Given the description of an element on the screen output the (x, y) to click on. 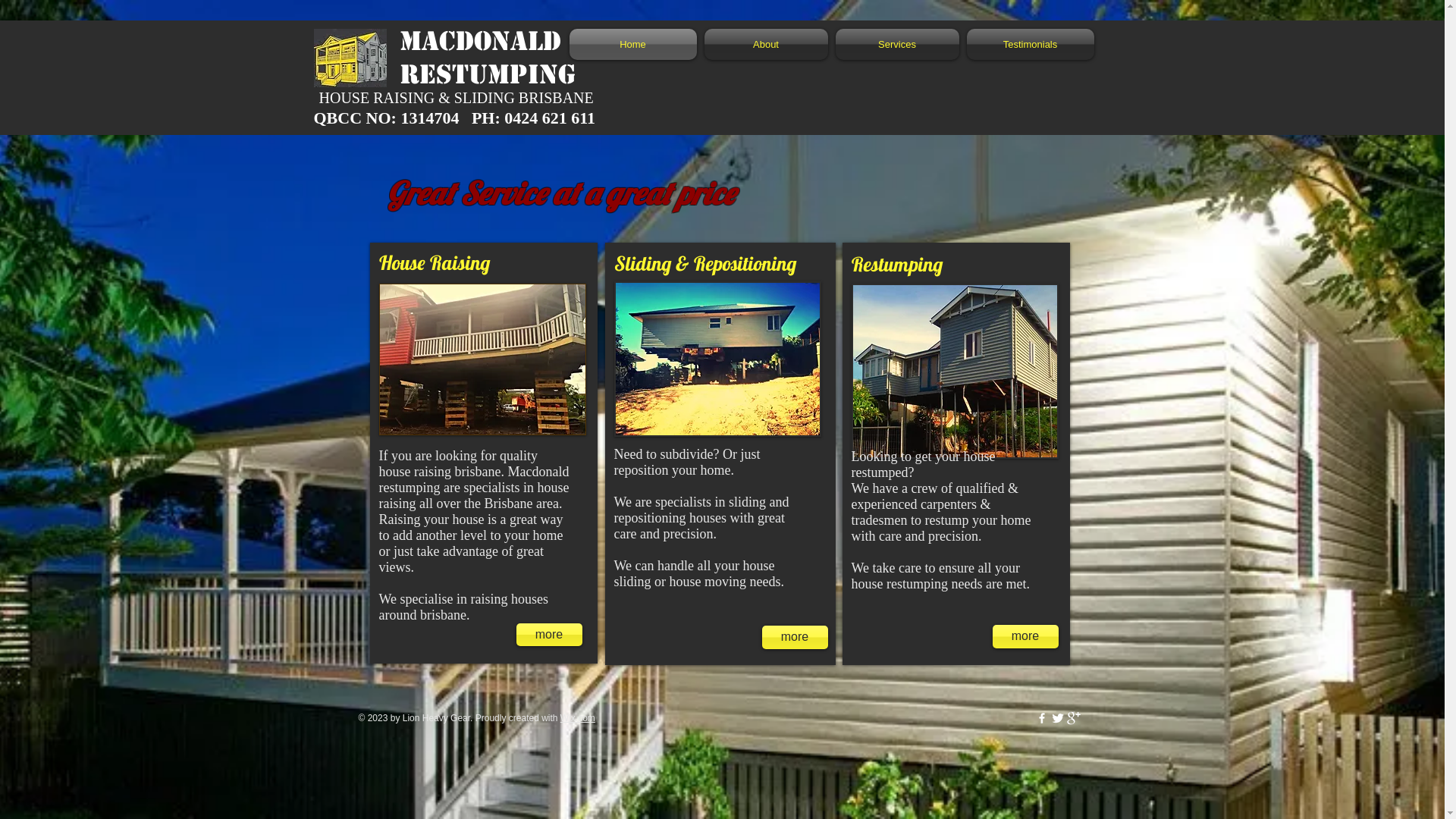
IMG_1117.JPG Element type: hover (717, 358)
External YouTube Element type: hover (941, 150)
more Element type: text (794, 637)
About Element type: text (765, 43)
Services Element type: text (896, 43)
IMG_2002.JPG Element type: hover (482, 359)
Home Element type: text (633, 43)
yellow house logo.jpg Element type: hover (349, 57)
more Element type: text (548, 634)
IMG_0341.JPG Element type: hover (953, 370)
Wix.com Element type: text (577, 717)
more Element type: text (1024, 636)
Testimonials Element type: text (1028, 43)
